Given the description of an element on the screen output the (x, y) to click on. 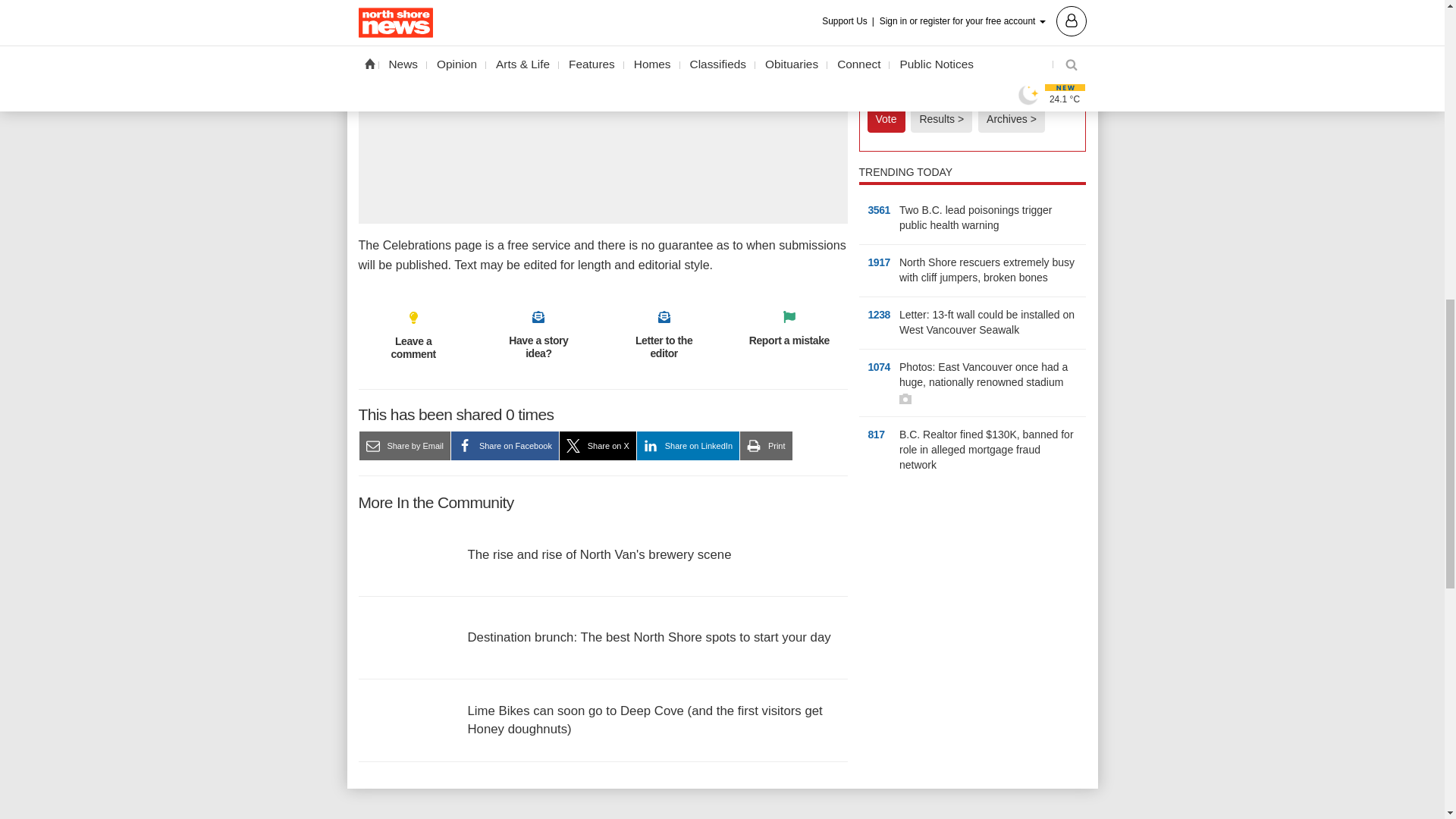
121293 (872, 86)
3rd party ad content (602, 124)
3rd party ad content (972, 593)
Has a gallery (905, 398)
121292 (872, 65)
